Given the description of an element on the screen output the (x, y) to click on. 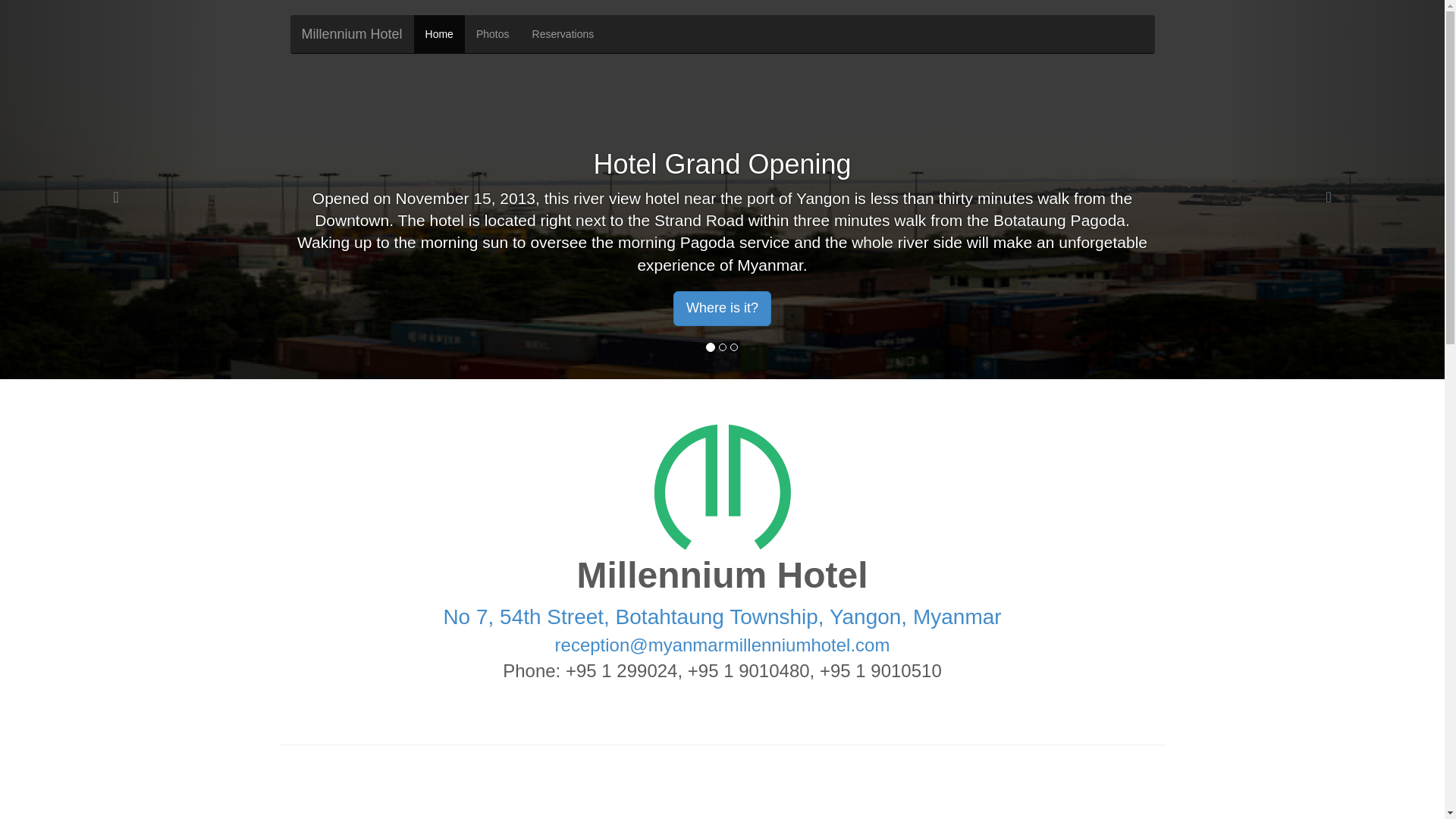
Where is it? (721, 308)
Reservations (563, 34)
No 7, 54th Street, Botahtaung Township, Yangon, Myanmar (721, 616)
Photos (492, 34)
Millennium Hotel (351, 34)
Home (438, 34)
